Given the description of an element on the screen output the (x, y) to click on. 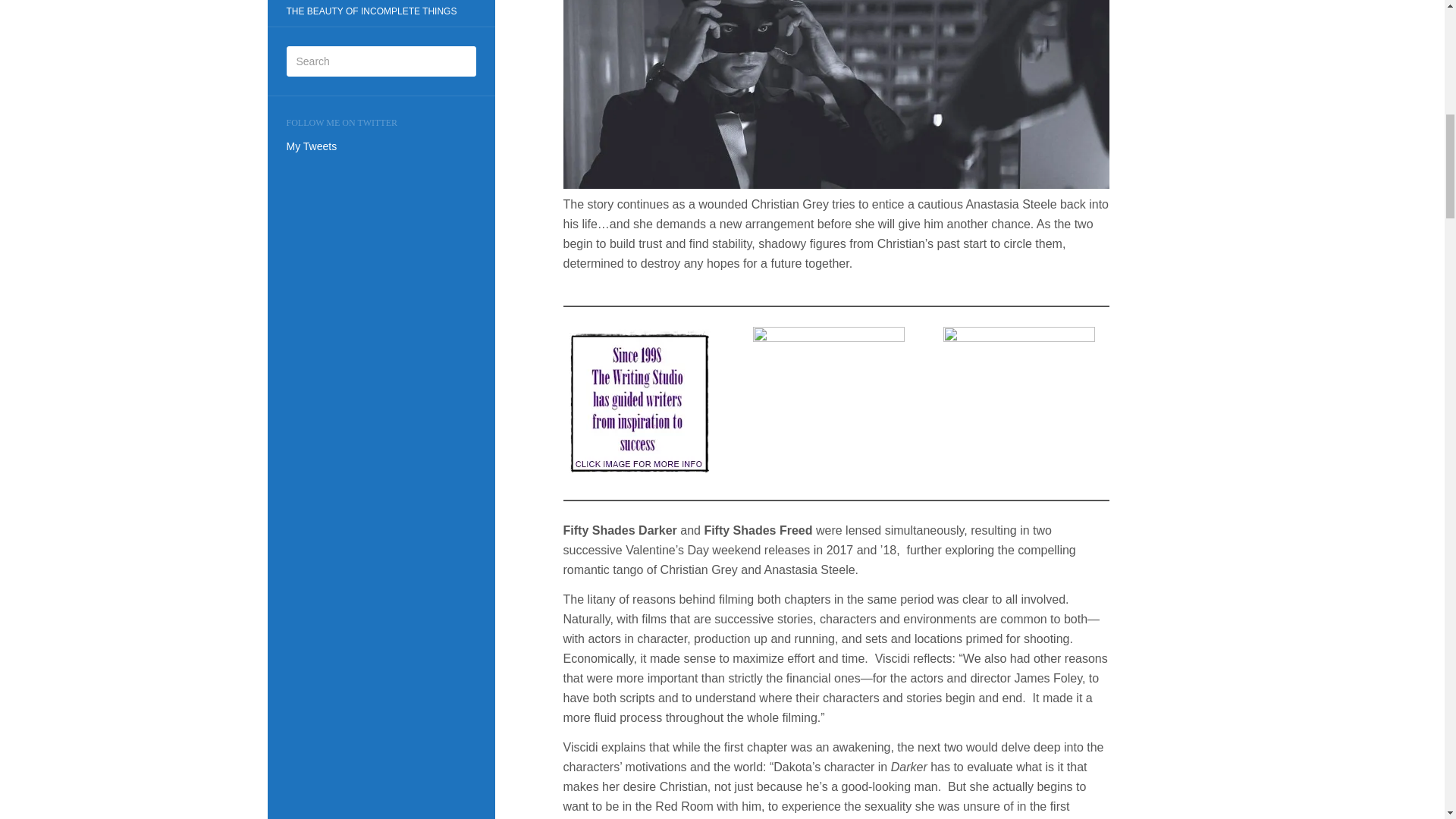
My Tweets (311, 146)
THE BEAUTY OF INCOMPLETE THINGS (371, 12)
